Given the description of an element on the screen output the (x, y) to click on. 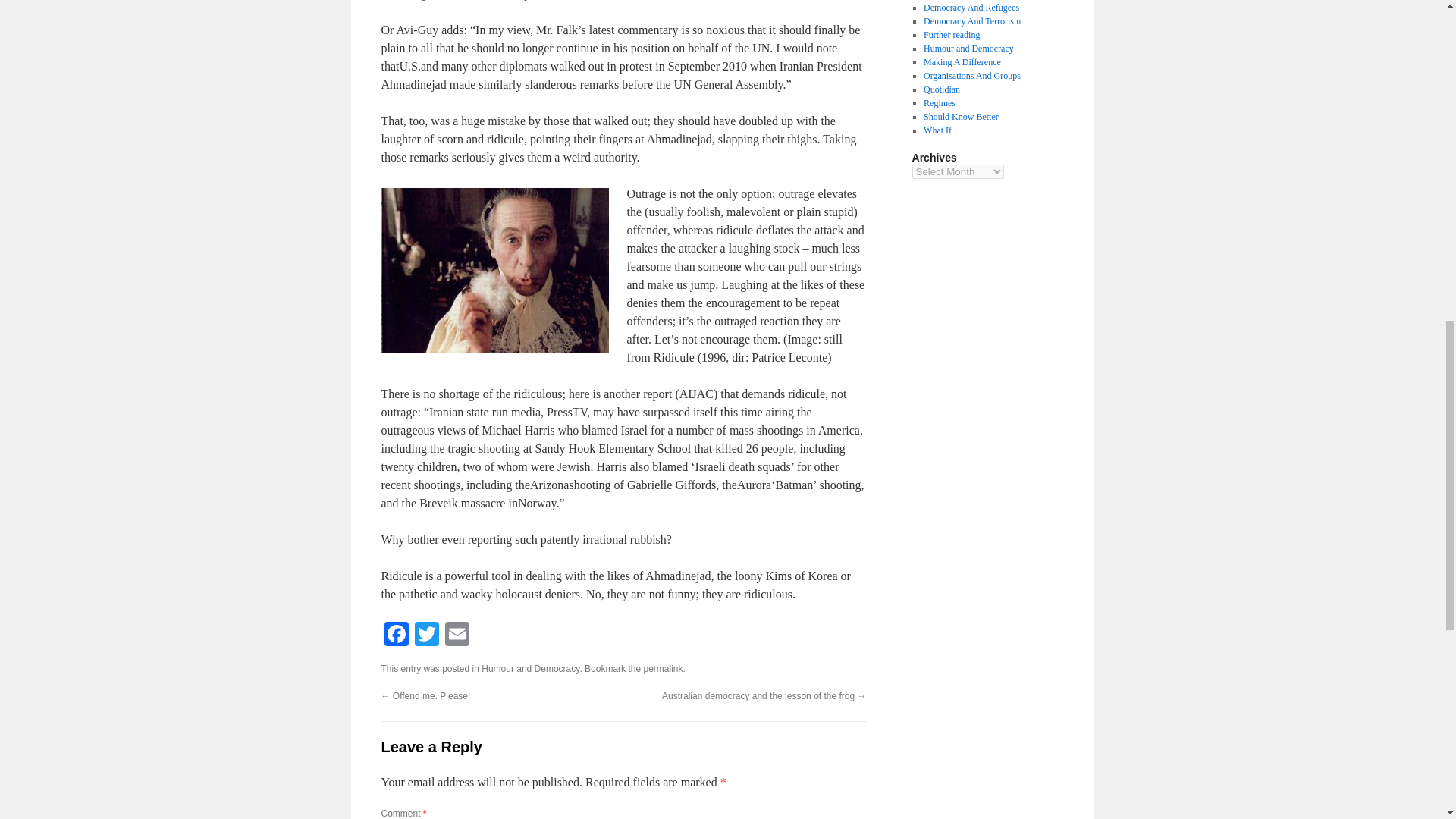
Twitter (425, 635)
permalink (662, 668)
Facebook (395, 635)
Email (456, 635)
Humour and Democracy (530, 668)
Permalink to When ridicule is best (662, 668)
Twitter (425, 635)
Email (456, 635)
Facebook (395, 635)
